Given the description of an element on the screen output the (x, y) to click on. 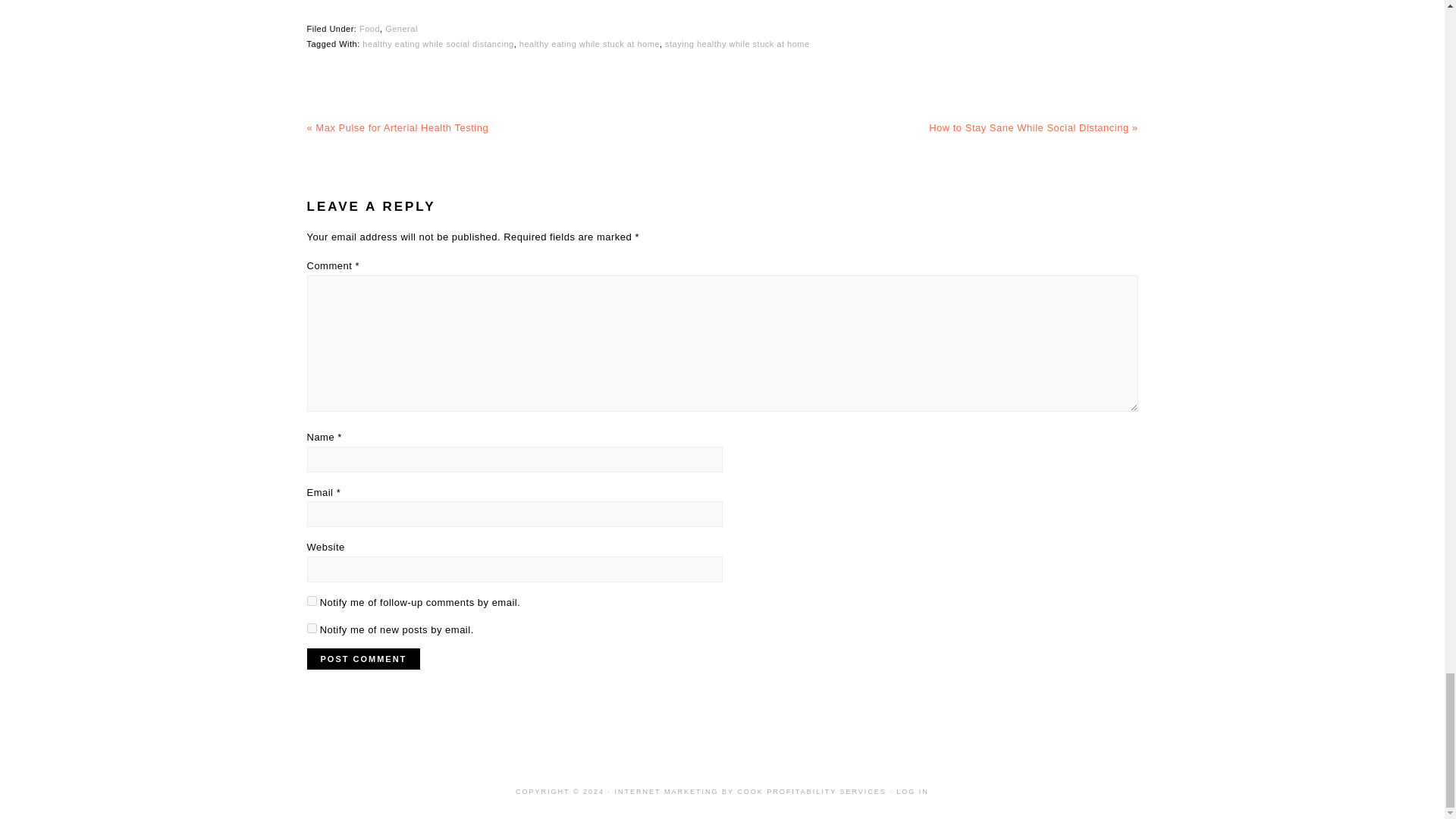
Post Comment (362, 658)
subscribe (310, 628)
subscribe (310, 601)
